Given the description of an element on the screen output the (x, y) to click on. 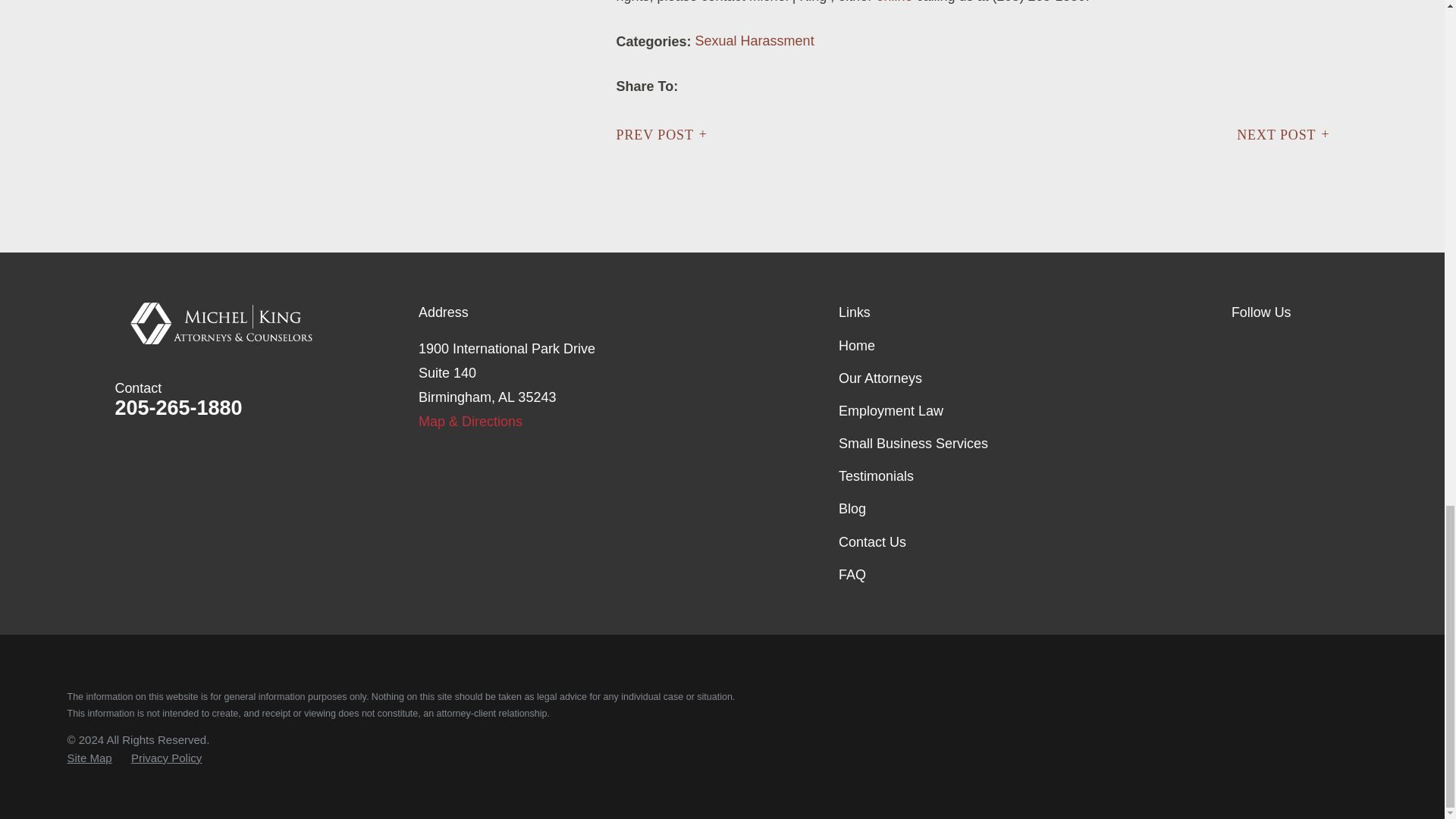
Home (267, 322)
Facebook (1280, 345)
Google Business Profile (1240, 345)
YouTube (1319, 345)
